Given the description of an element on the screen output the (x, y) to click on. 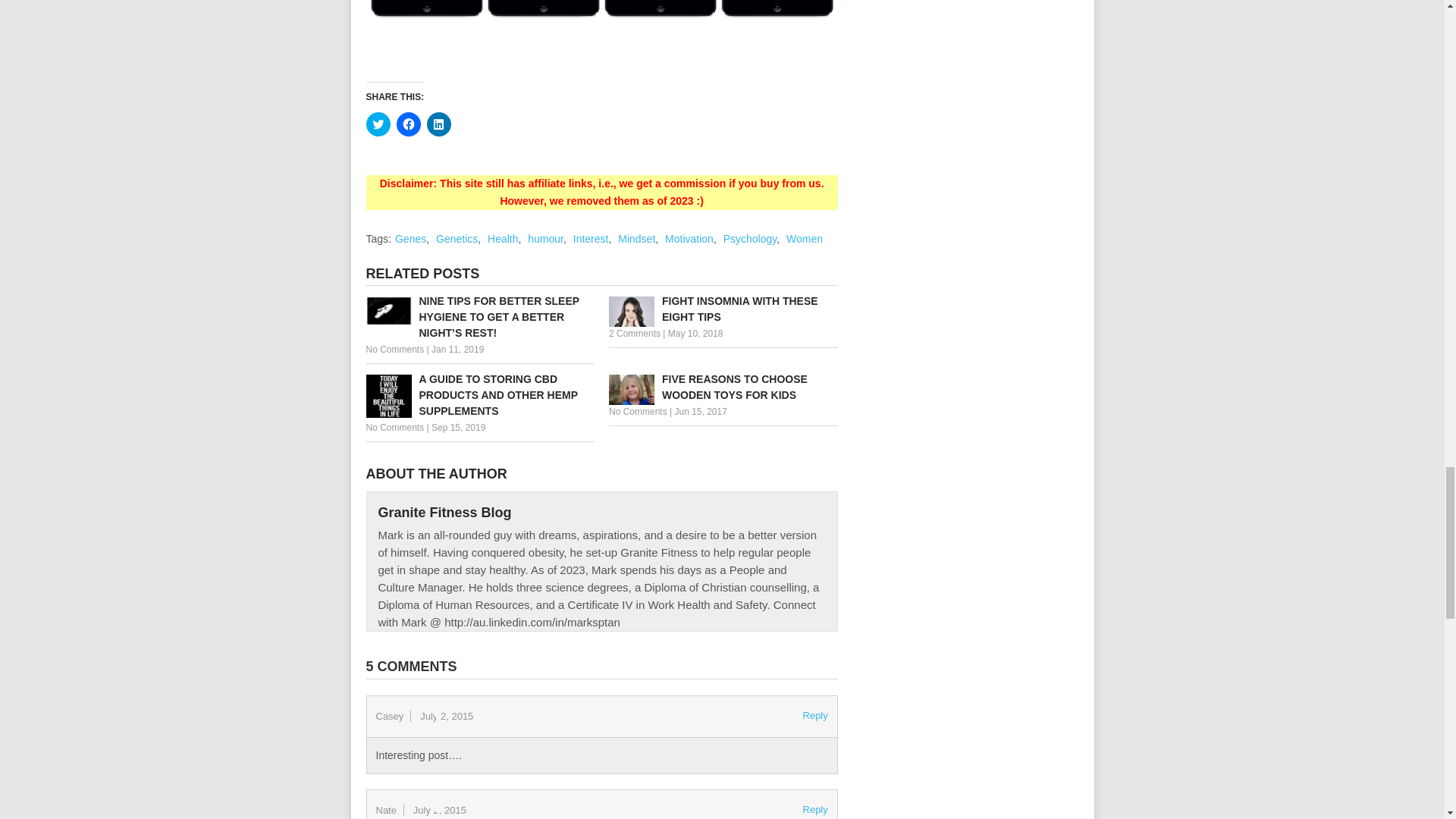
No Comments (637, 411)
A GUIDE TO STORING CBD PRODUCTS AND OTHER HEMP SUPPLEMENTS (479, 395)
Interest (590, 238)
FIVE REASONS TO CHOOSE WOODEN TOYS FOR KIDS (723, 387)
A Guide To Storing CBD Products And Other Hemp Supplements (479, 395)
Five Reasons To Choose Wooden Toys For Kids (723, 387)
Click to share on LinkedIn (437, 124)
Motivation (689, 238)
Psychology (750, 238)
Click to share on Facebook (408, 124)
Mindset (636, 238)
No Comments (394, 427)
Health (502, 238)
Nate (385, 809)
humour (545, 238)
